Given the description of an element on the screen output the (x, y) to click on. 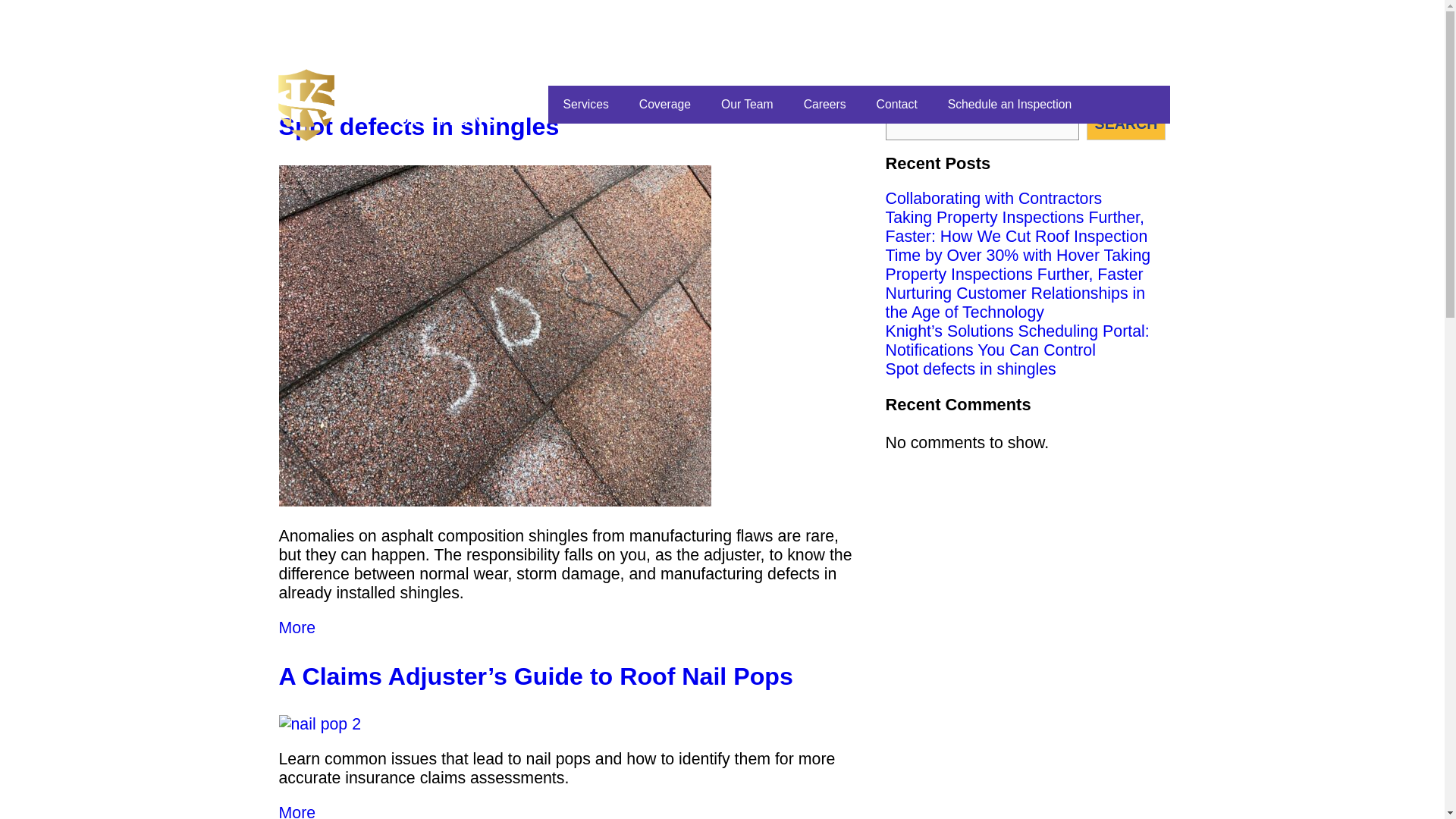
Our Team (747, 104)
Schedule an Inspection (1009, 104)
Spot defects in shingles (971, 369)
Collaborating with Contractors (993, 198)
Careers (825, 104)
SEARCH (1126, 123)
Coverage (665, 104)
Services (585, 104)
Spot defects in shingles (419, 126)
More (297, 811)
